Given the description of an element on the screen output the (x, y) to click on. 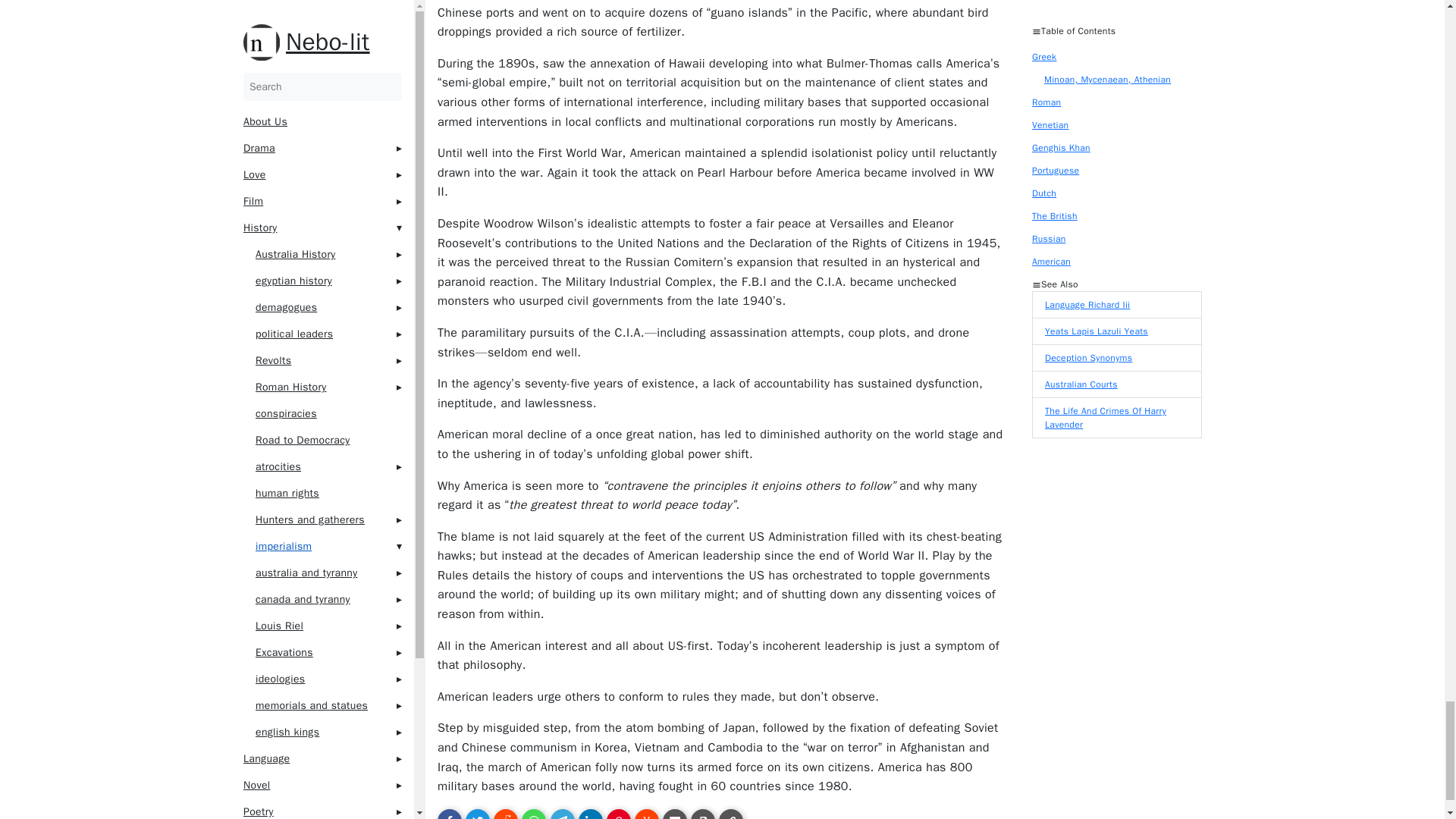
Share on LinkedIn (590, 814)
Pin on Pinterest (617, 814)
Submit to Reddit (505, 814)
Send via WhatsApp (533, 814)
Tweet on Twitter (477, 814)
Copy Link (730, 814)
Share on Facebook (448, 814)
Send via Email (674, 814)
Print this (702, 814)
Send via Telegram (561, 814)
